Given the description of an element on the screen output the (x, y) to click on. 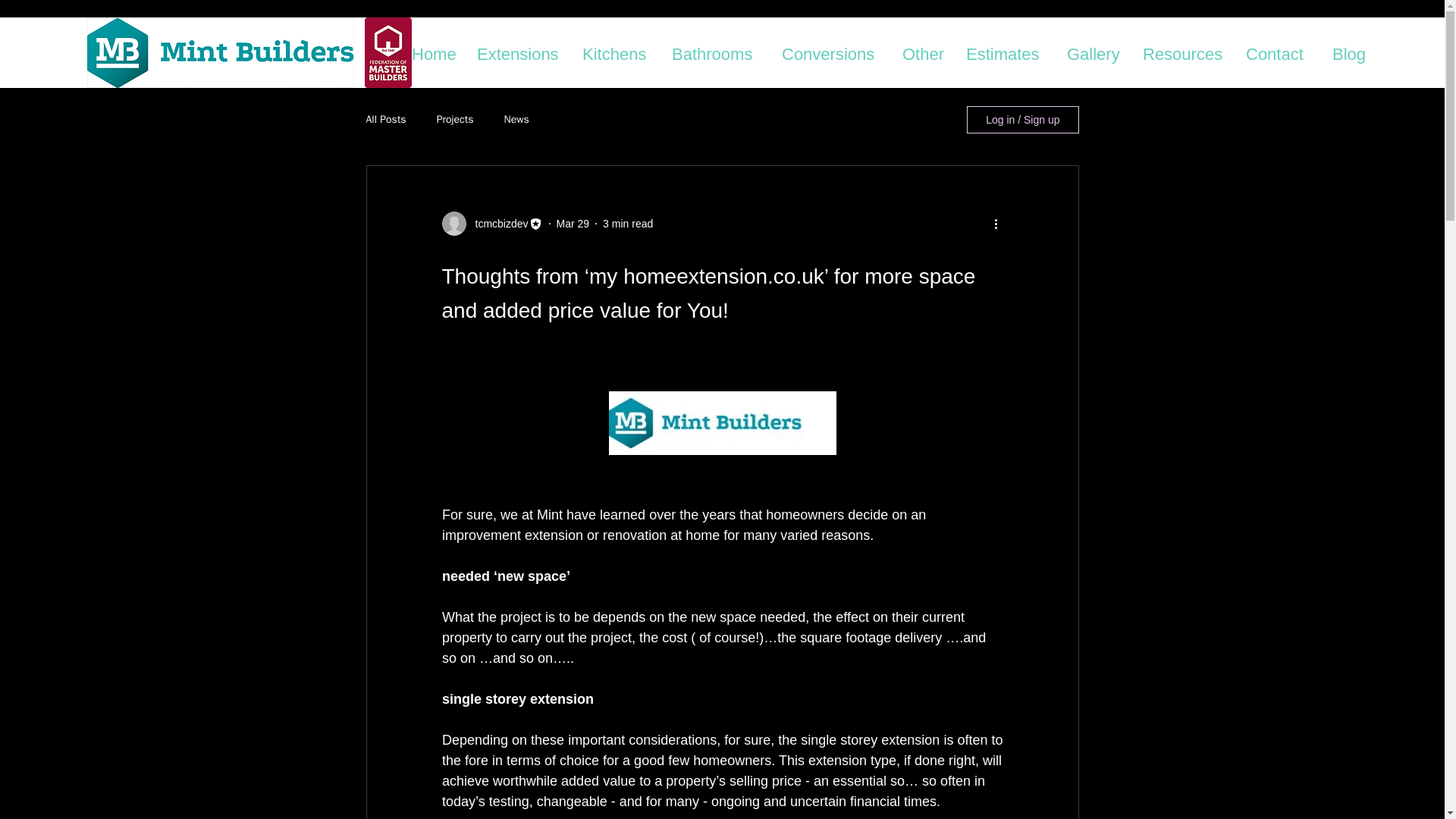
Contact (1281, 50)
Conversions (834, 50)
Blog (1350, 50)
Estimates (1008, 50)
Mar 29 (572, 223)
All Posts (385, 119)
Bathrooms (718, 50)
News (516, 119)
3 min read (627, 223)
Extensions (521, 50)
Projects (455, 119)
Home (436, 50)
Kitchens (619, 50)
Other (926, 50)
tcmcbizdev (496, 222)
